Given the description of an element on the screen output the (x, y) to click on. 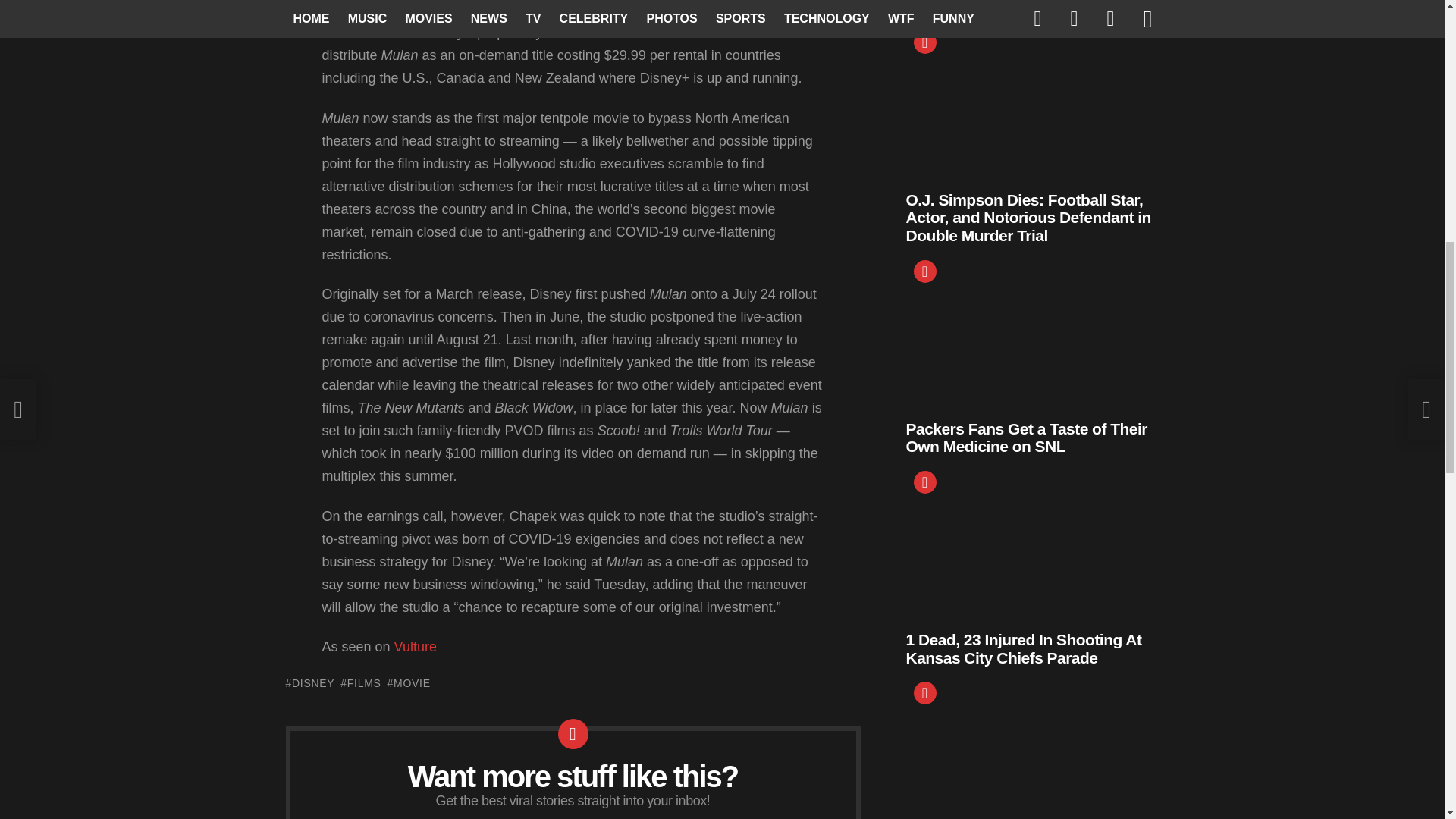
Vulture (415, 646)
MOVIE (408, 683)
Hot (924, 42)
Hot (924, 271)
FILMS (360, 683)
Popular (924, 692)
DISNEY (309, 683)
Hot (924, 481)
